Given the description of an element on the screen output the (x, y) to click on. 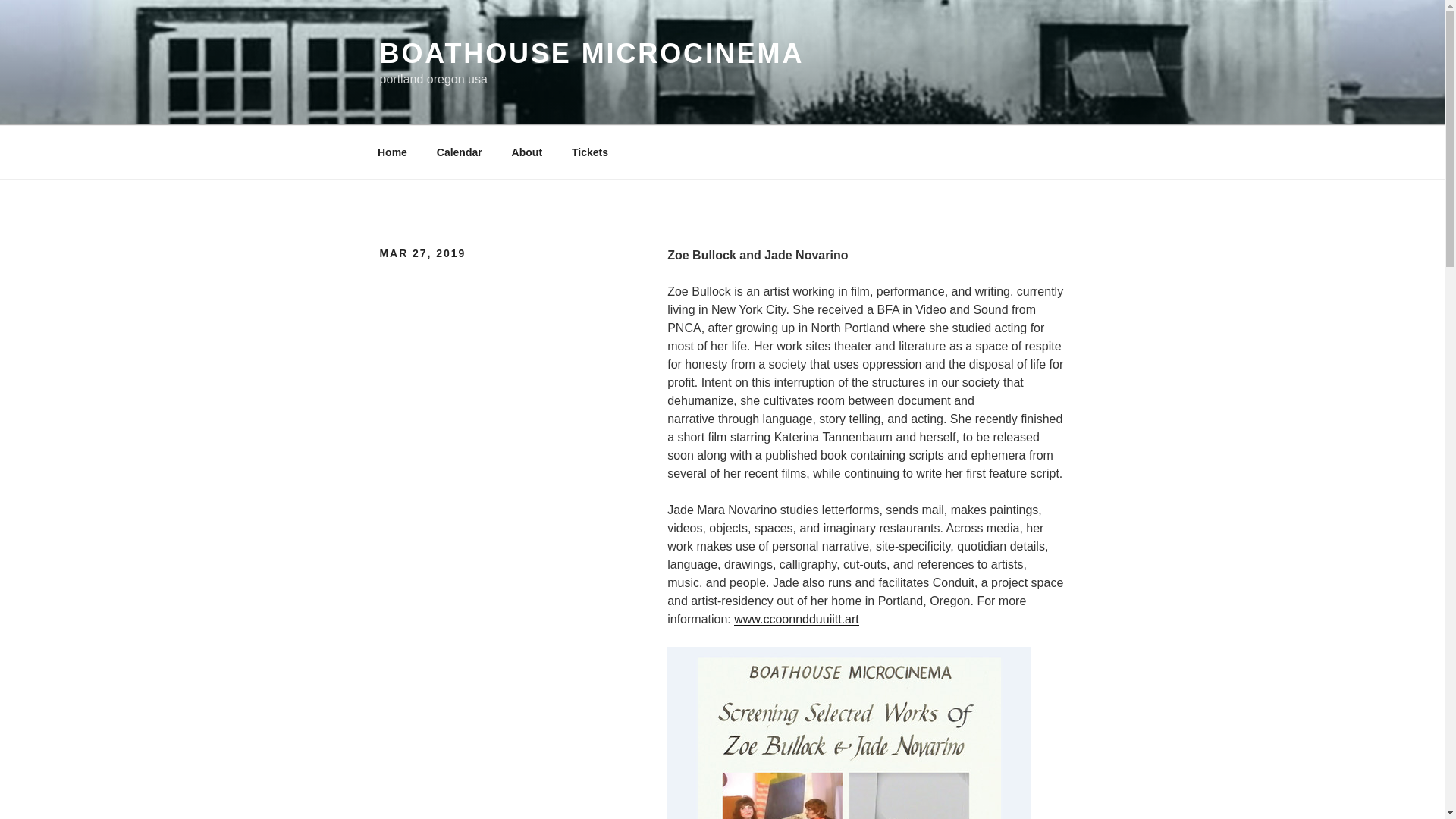
Tickets (589, 151)
www.ccoonndduuiitt.art (796, 618)
About (525, 151)
Calendar (459, 151)
Home (392, 151)
BOATHOUSE MICROCINEMA (590, 52)
